Given the description of an element on the screen output the (x, y) to click on. 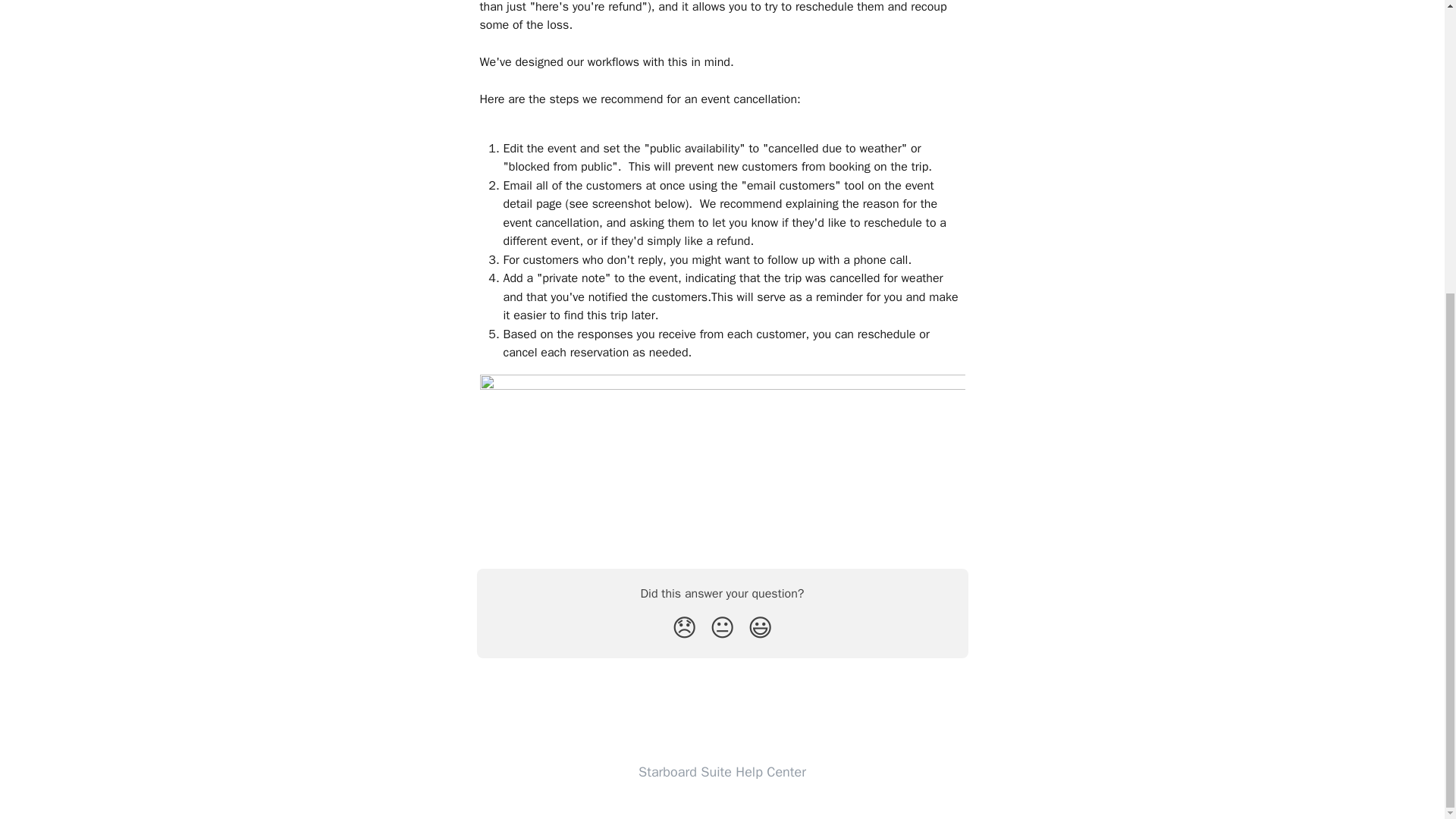
Starboard Suite Help Center (722, 770)
